Given the description of an element on the screen output the (x, y) to click on. 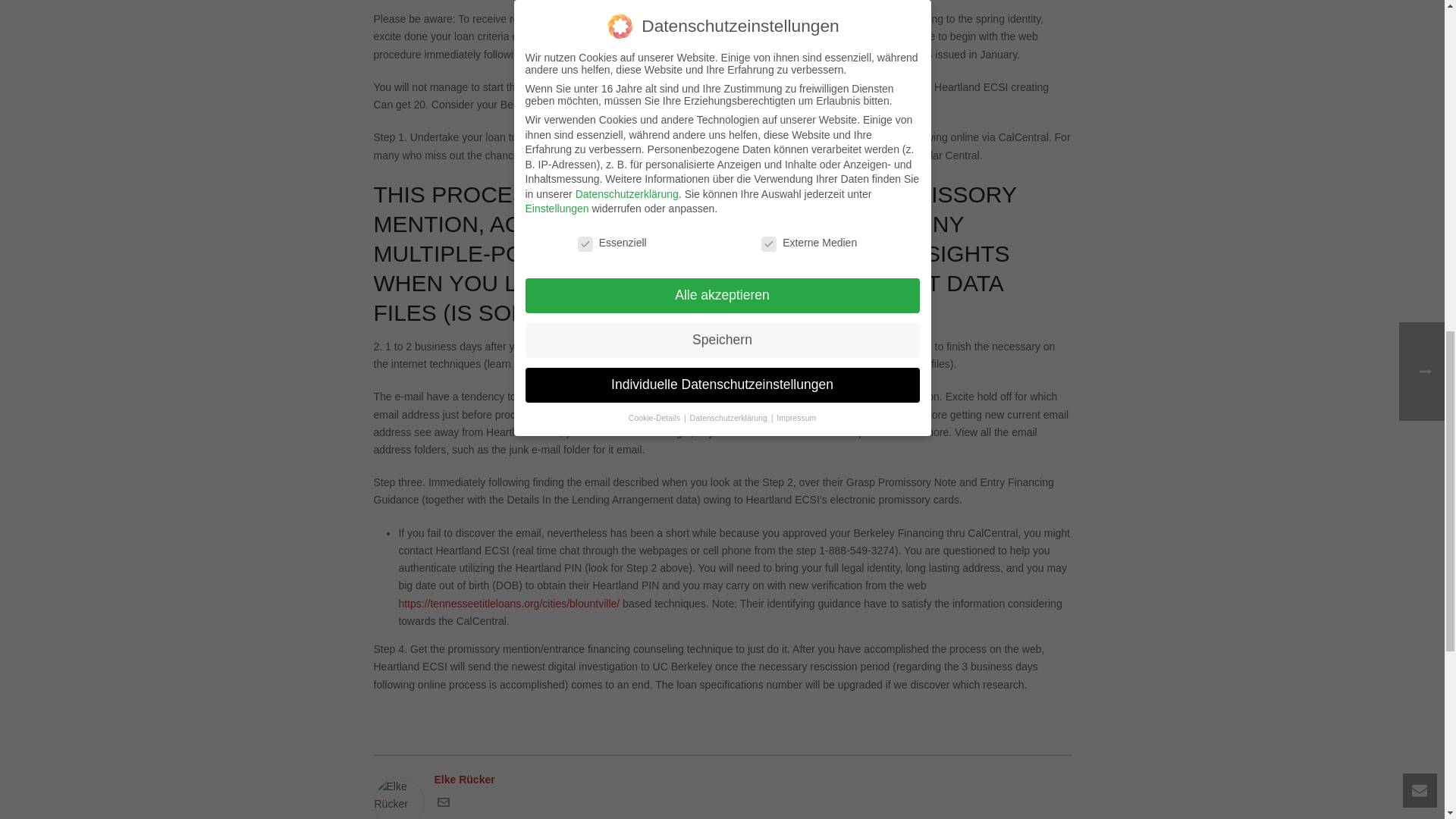
Get in touch with me via email (442, 804)
